Given the description of an element on the screen output the (x, y) to click on. 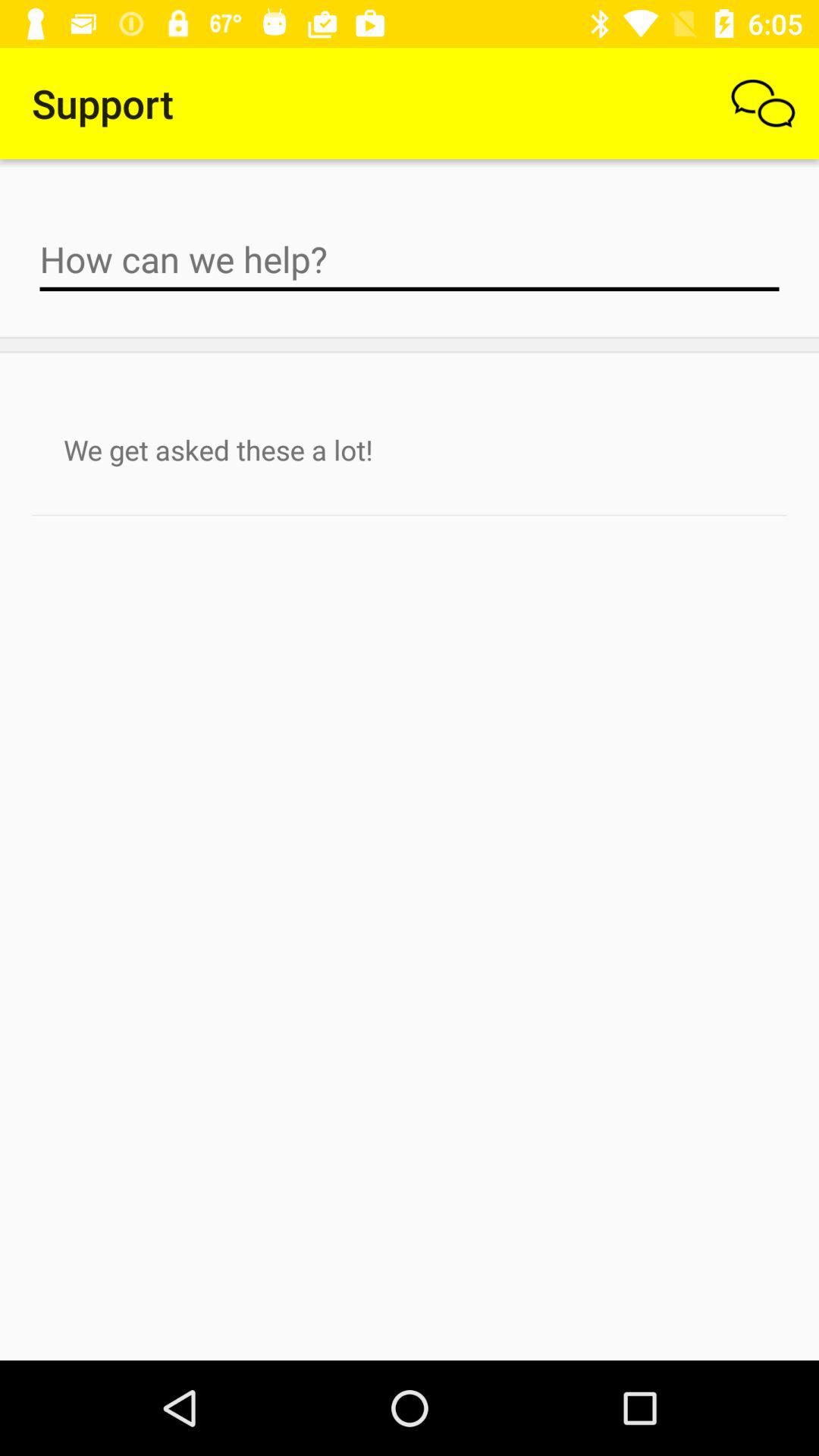
open the app next to support app (763, 103)
